Given the description of an element on the screen output the (x, y) to click on. 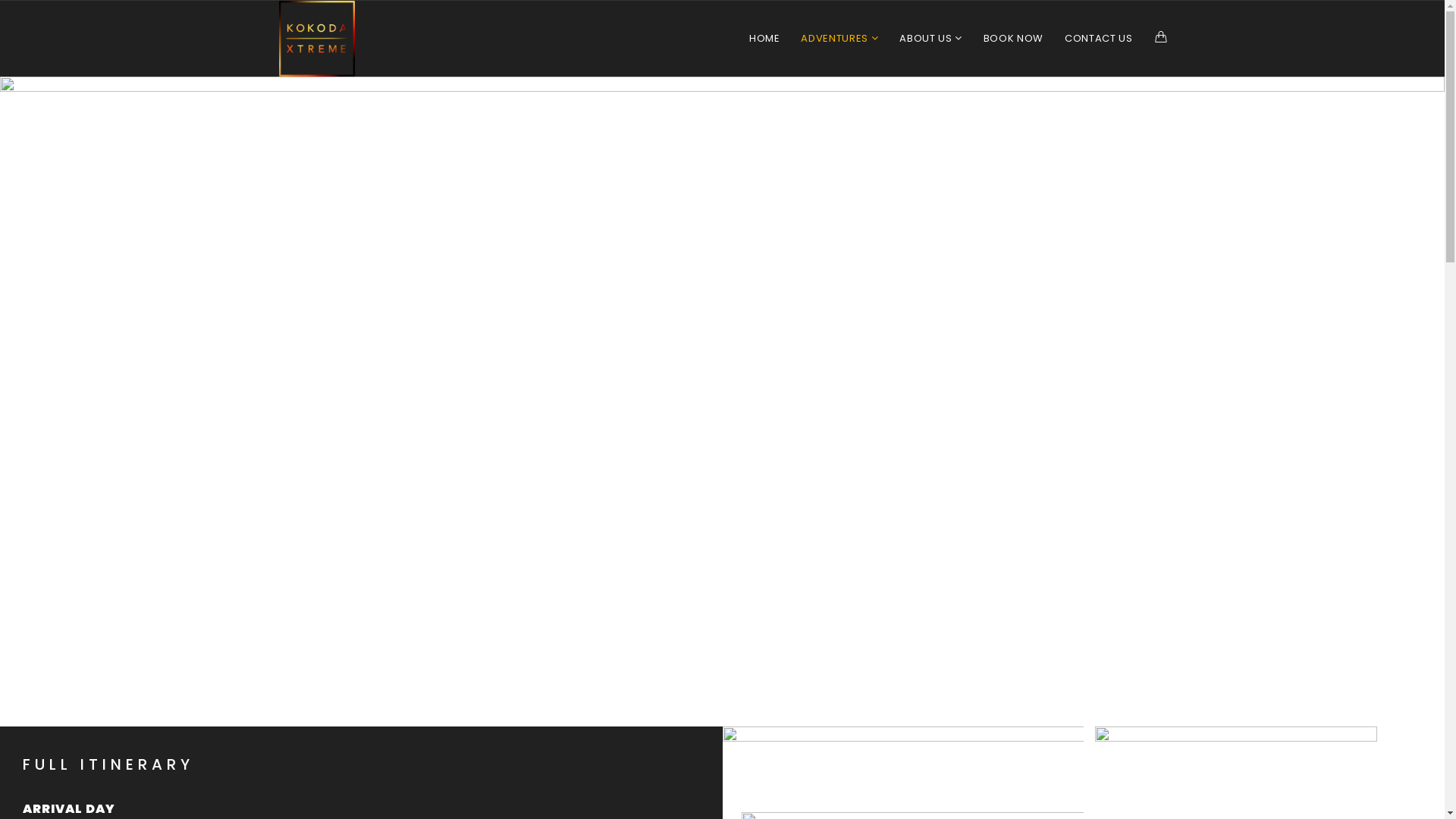
BOOK NOW Element type: text (1013, 38)
ADVENTURES Element type: text (839, 38)
downloads-button Element type: hover (901, 763)
CONTACT US Element type: text (1098, 38)
coast-coast-feb-2023 Element type: hover (722, 397)
ABOUT US Element type: text (930, 38)
HOME Element type: text (764, 38)
Kokoda Xtreme -  Element type: hover (315, 38)
